Given the description of an element on the screen output the (x, y) to click on. 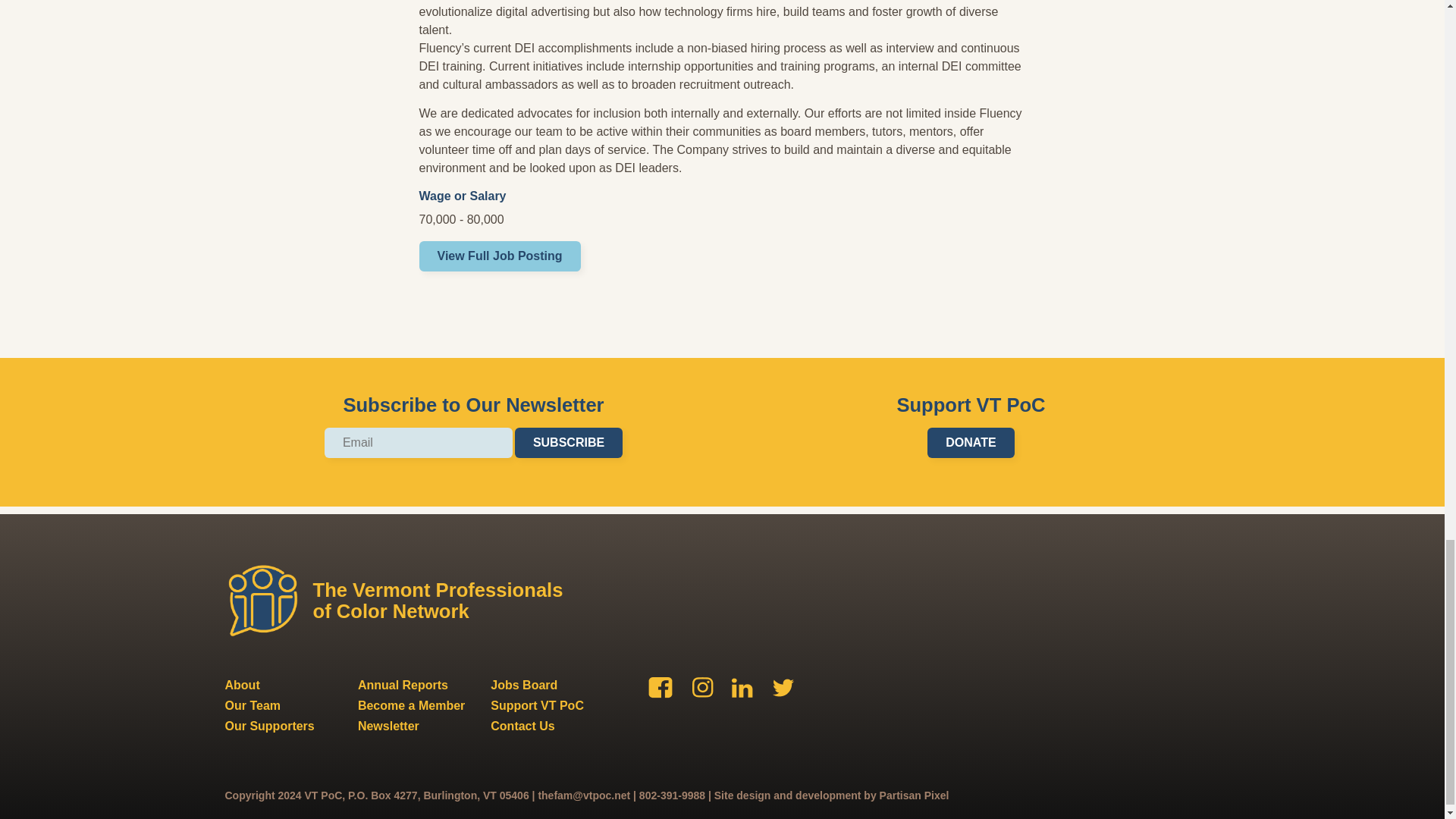
SUBSCRIBE (569, 442)
Our Team (252, 705)
Annual Reports (403, 684)
View Full Job Posting (499, 255)
Our Supporters (269, 725)
SUBSCRIBE (569, 442)
About (241, 684)
DONATE (970, 442)
The Vermont Professionals of Color Network (401, 600)
